Given the description of an element on the screen output the (x, y) to click on. 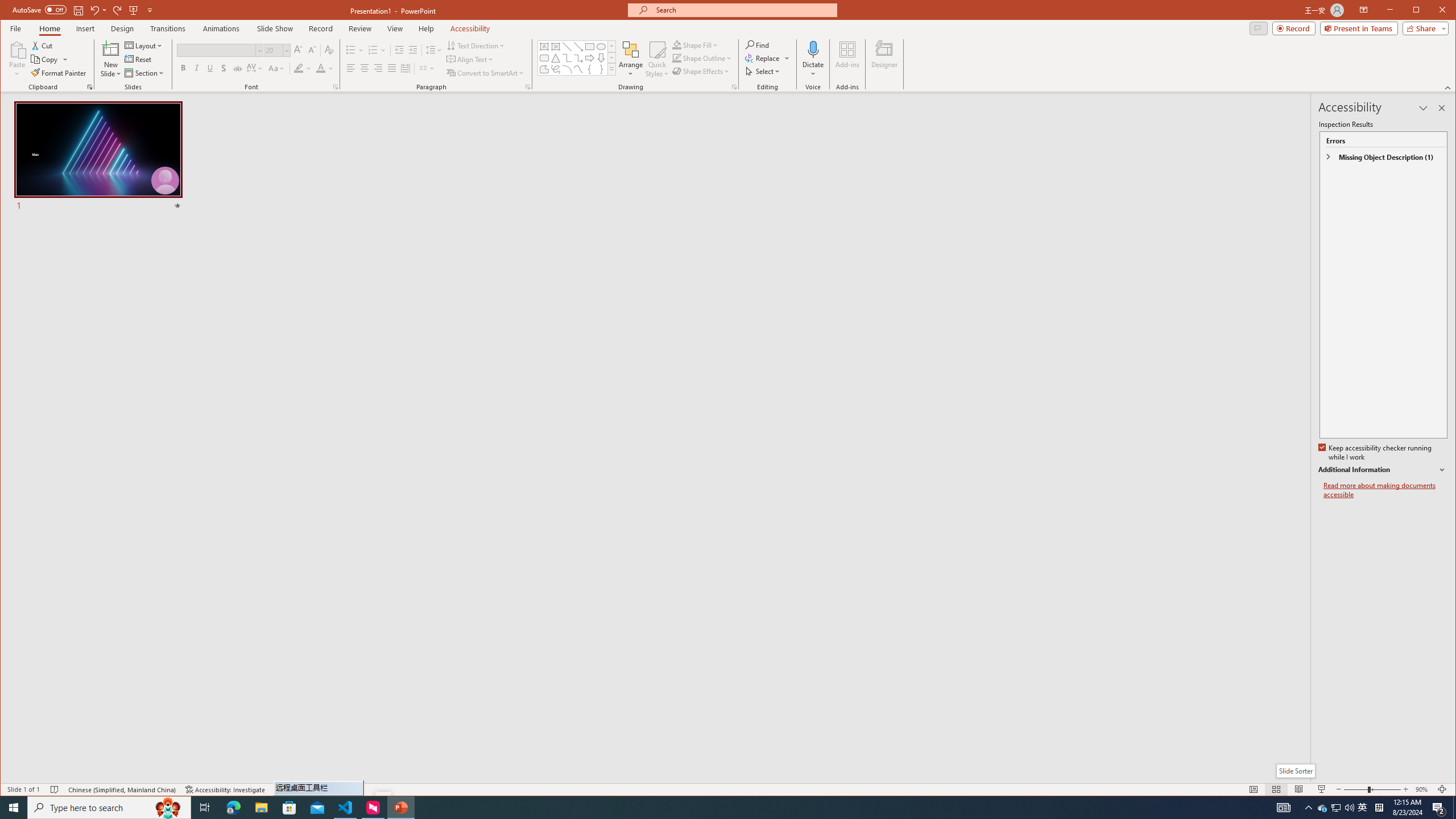
Arc (567, 69)
Q2790: 100% (1335, 807)
Left Brace (1349, 807)
Decrease Indent (589, 69)
Columns (399, 49)
Quick Styles (426, 68)
Visual Studio Code - 1 running window (658, 59)
Shape Fill (345, 807)
Decrease Font Size (695, 44)
